Given the description of an element on the screen output the (x, y) to click on. 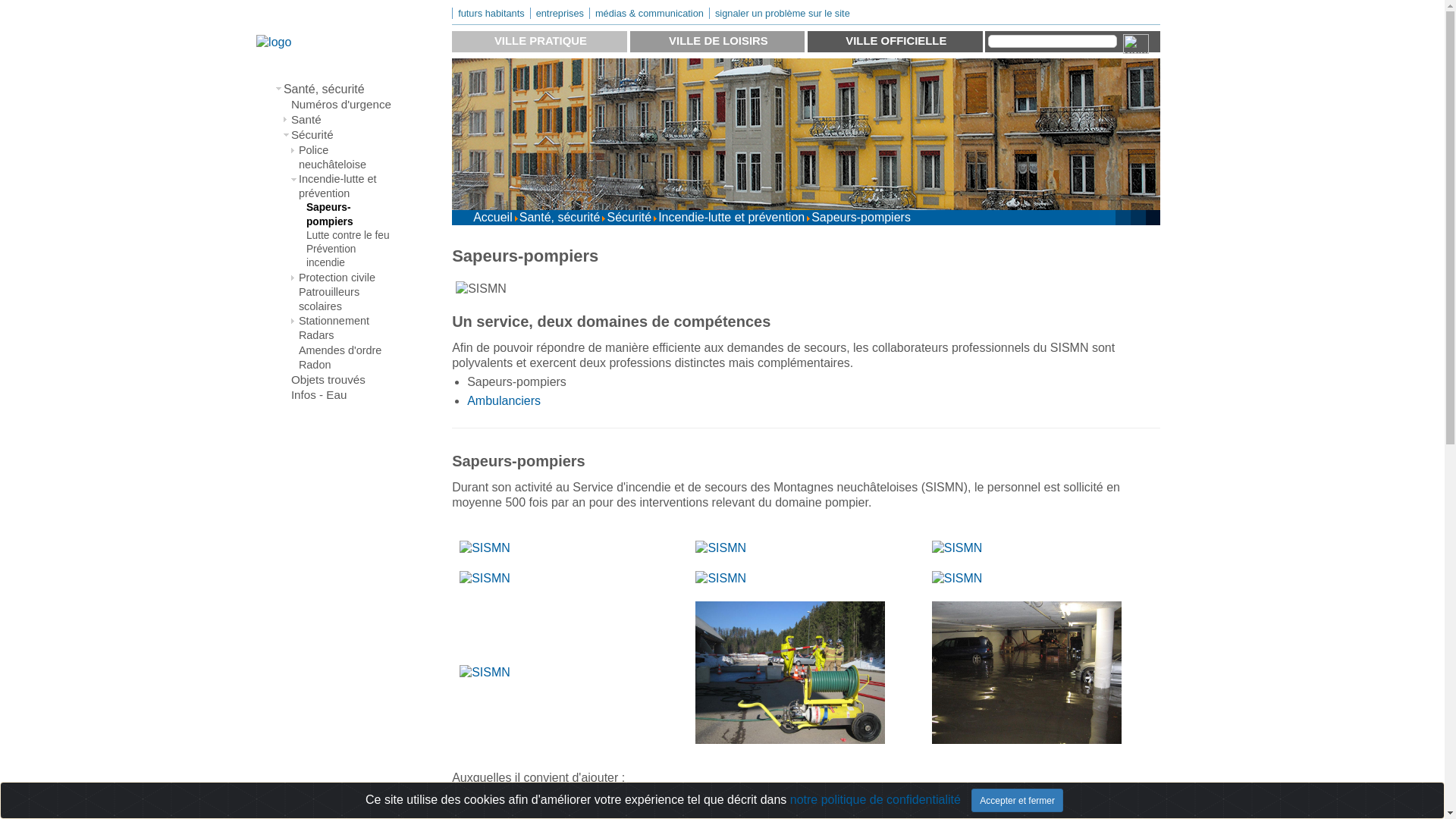
SISMN Element type: hover (1026, 672)
Lutte contre le feu Element type: text (349, 235)
Radon Element type: text (345, 364)
SISMN Element type: hover (720, 547)
Sapeurs-pompiers Element type: text (349, 214)
Patrouilleurs scolaires Element type: text (345, 299)
SISMN Element type: hover (484, 547)
rechercher Element type: hover (1052, 40)
SISMN Element type: hover (720, 578)
Amendes d'ordre Element type: text (345, 350)
SISMN Element type: hover (480, 288)
SISMN Element type: hover (484, 672)
futurs habitants Element type: text (490, 12)
Accepter et fermer Element type: text (1017, 800)
SISMN Element type: hover (789, 672)
SISMN Element type: hover (956, 578)
Infos - Eau Element type: text (342, 394)
entreprises Element type: text (559, 12)
Accueil Element type: text (492, 216)
Radars Element type: text (345, 335)
SISMN Element type: hover (956, 547)
Ambulanciers Element type: text (503, 400)
Protection civile Element type: text (345, 277)
SISMN Element type: hover (484, 578)
Stationnement Element type: text (345, 320)
rechercher Element type: hover (1133, 41)
